Given the description of an element on the screen output the (x, y) to click on. 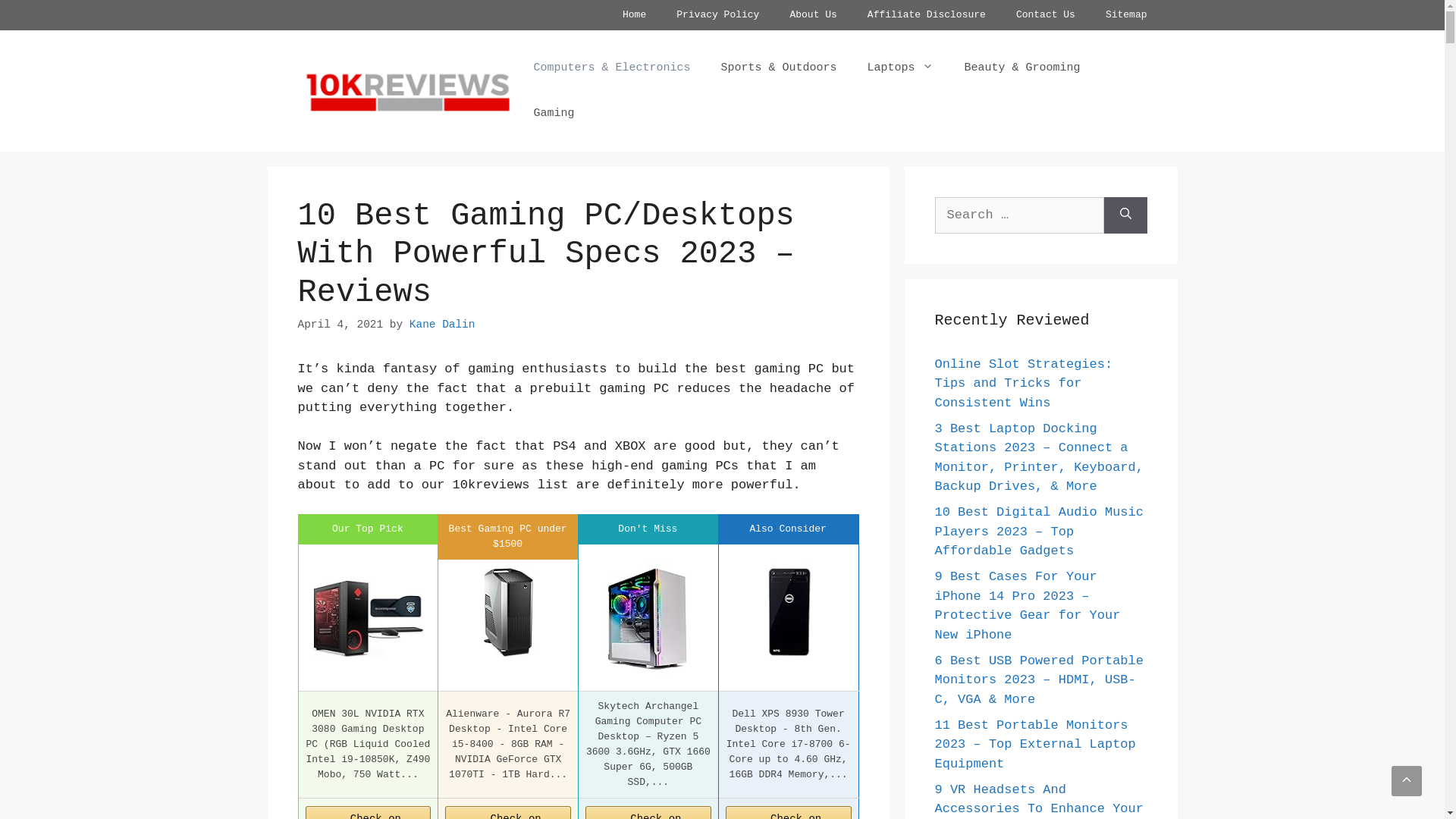
Beauty & Grooming Element type: text (1021, 68)
Search for: Element type: hover (1018, 215)
Computers & Electronics Element type: text (611, 68)
Privacy Policy Element type: text (717, 15)
About Us Element type: text (812, 15)
Contact Us Element type: text (1045, 15)
Gaming Element type: text (553, 113)
Online Slot Strategies: Tips and Tricks for Consistent Wins Element type: text (1023, 382)
Affiliate Disclosure Element type: text (926, 15)
Sitemap Element type: text (1126, 15)
Laptops Element type: text (899, 68)
Scroll back to top Element type: hover (1406, 780)
Sports & Outdoors Element type: text (778, 68)
Kane Dalin Element type: text (442, 324)
Home Element type: text (634, 15)
